Given the description of an element on the screen output the (x, y) to click on. 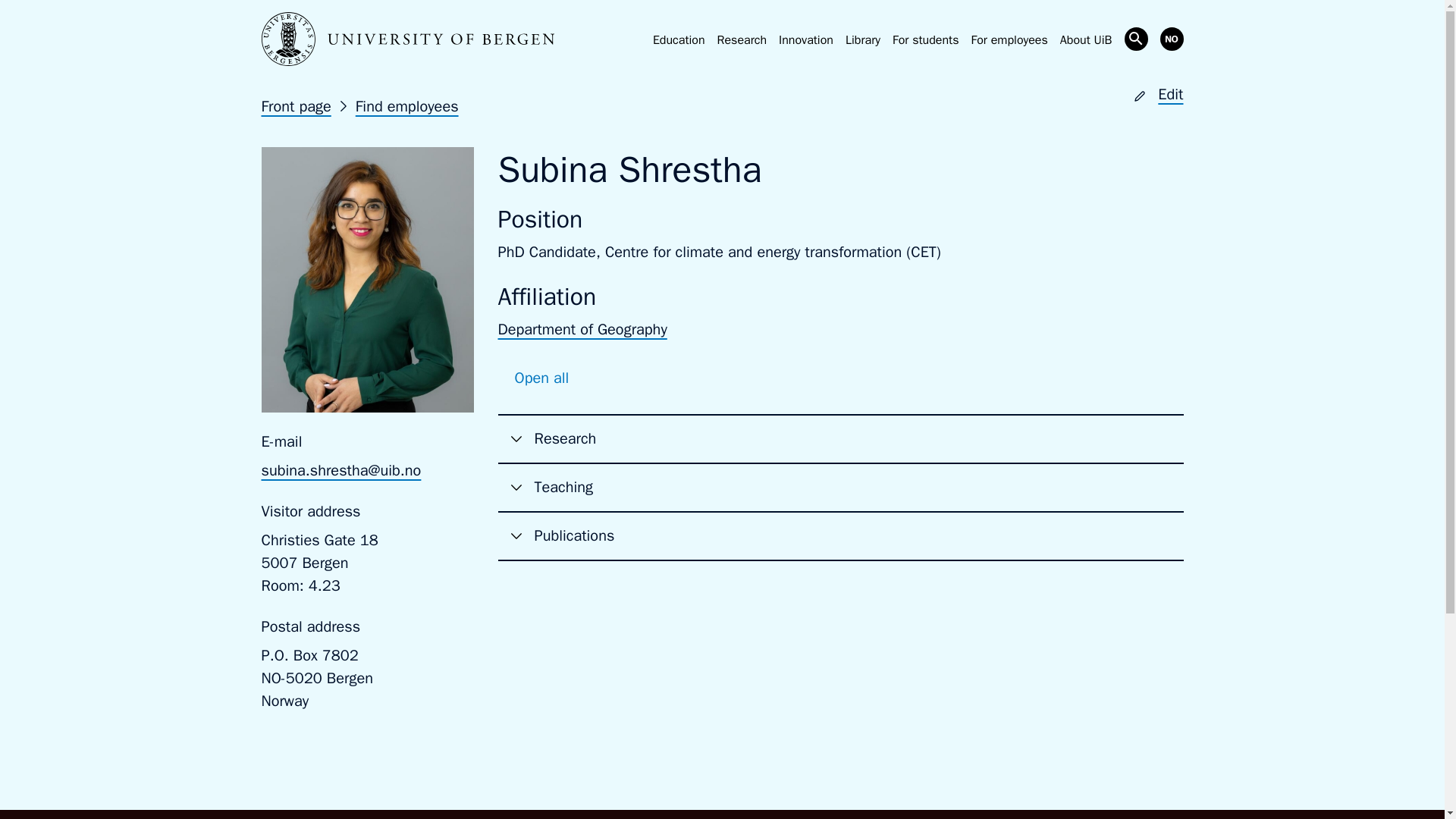
For employees (1008, 39)
Find employees (406, 106)
Research (742, 39)
Department of Geography (581, 329)
For students (925, 39)
Edit (1158, 94)
Innovation (805, 39)
Skip to main content (22, 23)
Library (862, 39)
Open all (541, 377)
